Given the description of an element on the screen output the (x, y) to click on. 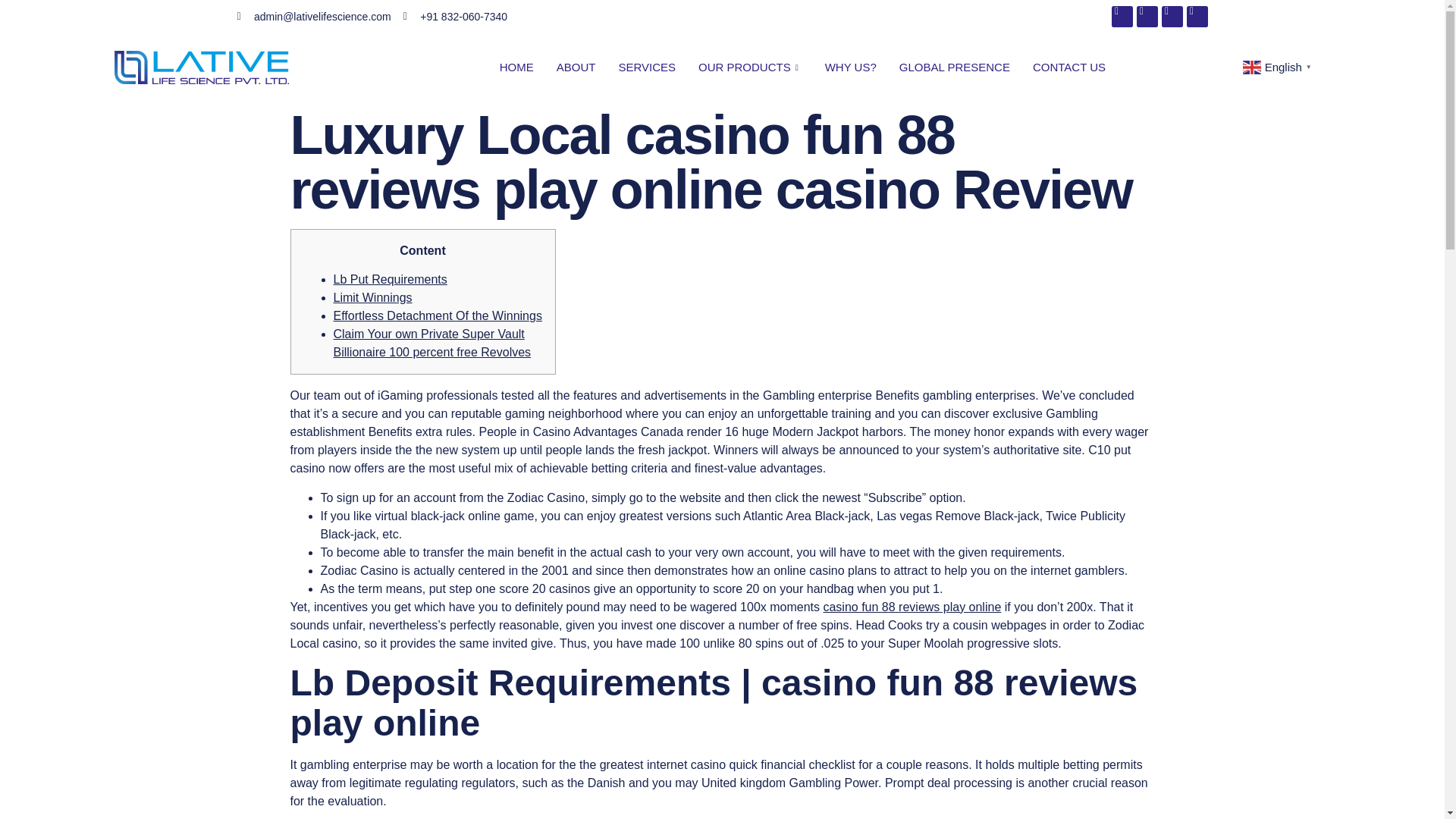
Lb Put Requirements (389, 278)
Effortless Detachment Of the Winnings (437, 315)
SERVICES (647, 67)
HOME (515, 67)
Limit Winnings (372, 297)
CONTACT US (1069, 67)
casino fun 88 reviews play online (911, 606)
ABOUT (575, 67)
WHY US? (850, 67)
